Given the description of an element on the screen output the (x, y) to click on. 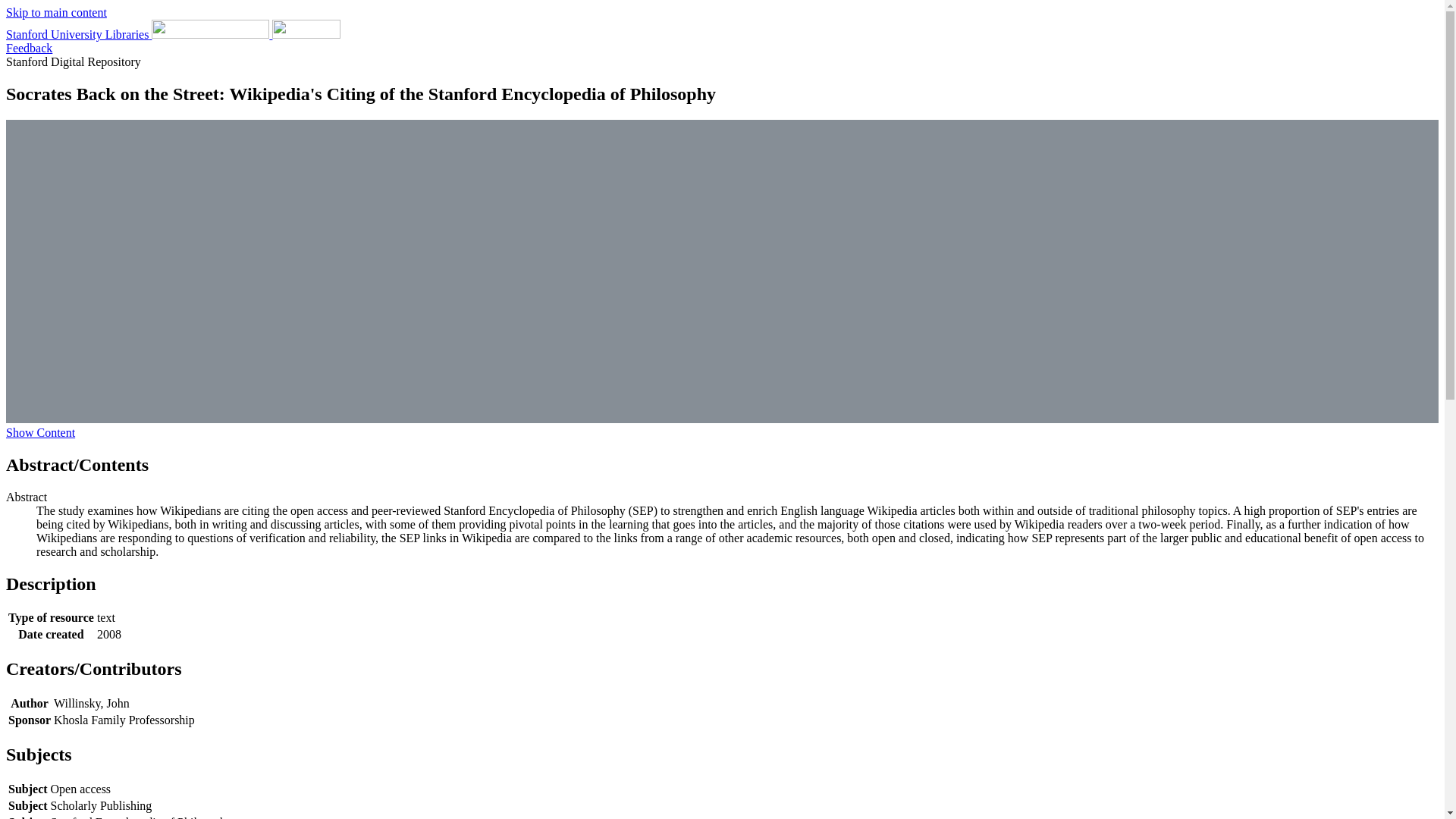
Feedback (28, 47)
Show Content (40, 431)
Skip to main content (55, 11)
Stanford University Libraries (172, 33)
